Given the description of an element on the screen output the (x, y) to click on. 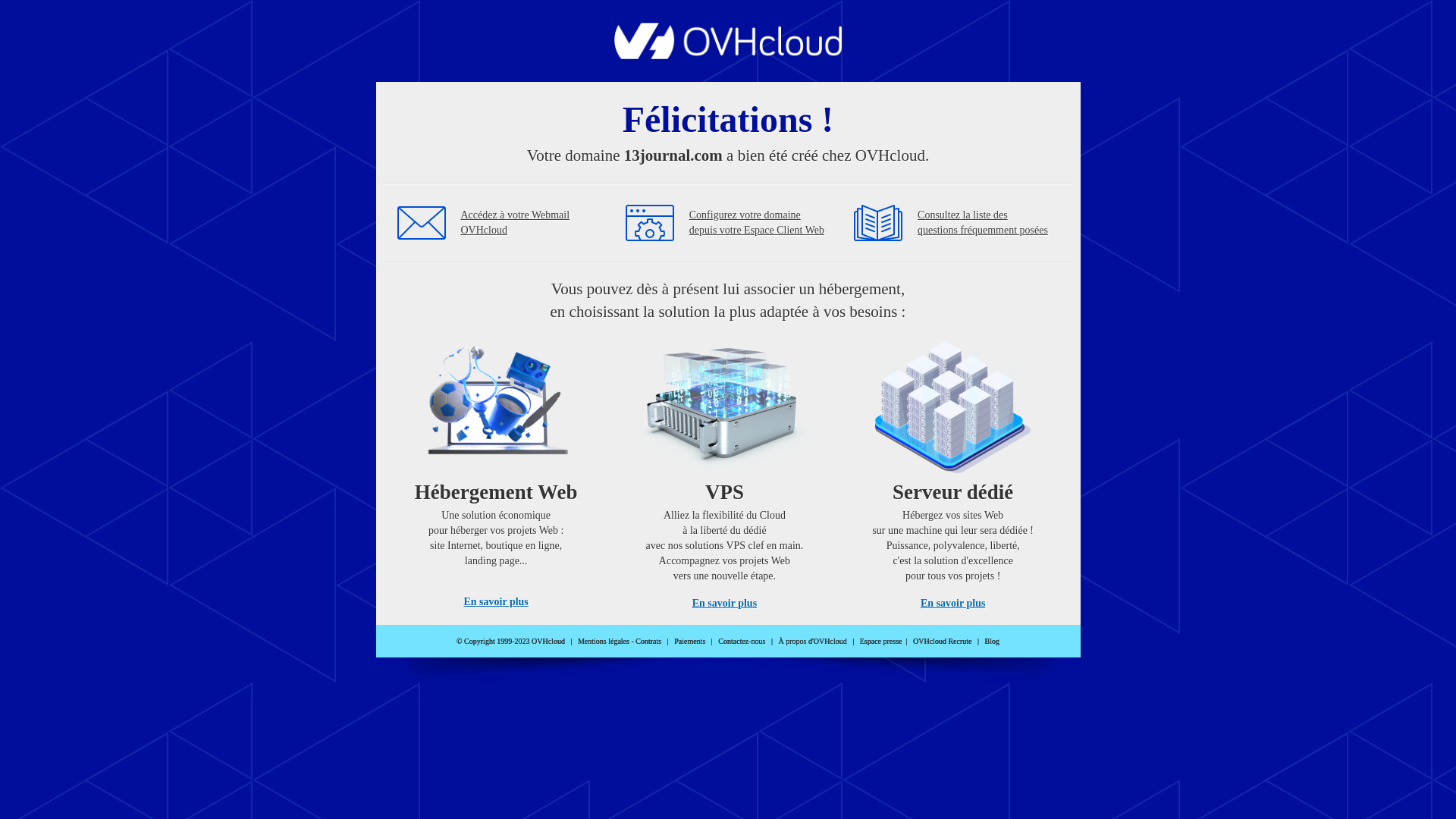
VPS Element type: hover (724, 469)
OVHcloud Recrute Element type: text (942, 641)
En savoir plus Element type: text (724, 602)
Blog Element type: text (992, 641)
Configurez votre domaine
depuis votre Espace Client Web Element type: text (756, 222)
OVHcloud Element type: hover (727, 54)
Contactez-nous Element type: text (741, 641)
En savoir plus Element type: text (495, 601)
En savoir plus Element type: text (952, 602)
Espace presse Element type: text (880, 641)
Paiements Element type: text (689, 641)
